Given the description of an element on the screen output the (x, y) to click on. 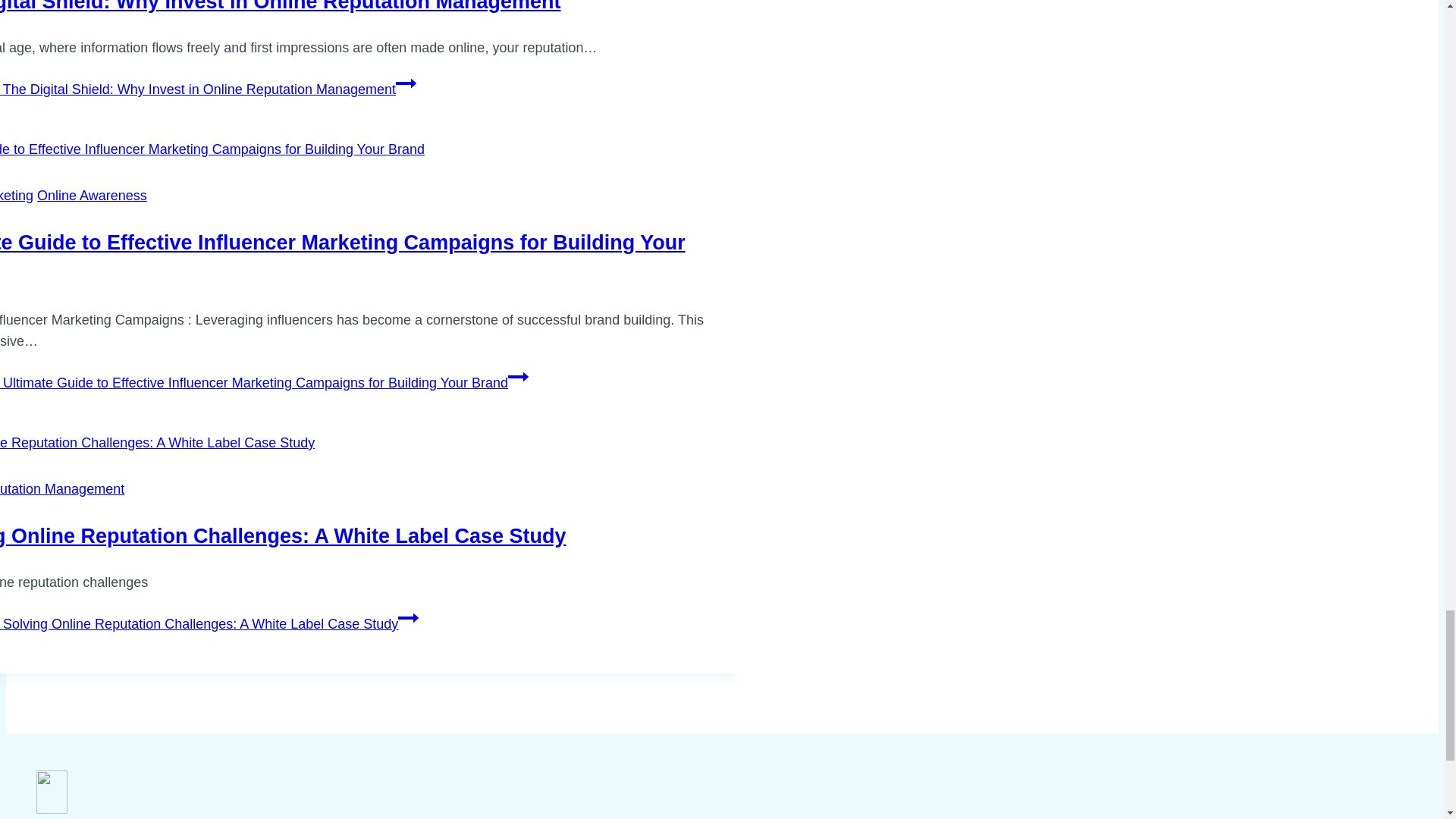
Continue (406, 83)
Digital Marketing (16, 195)
Online Awareness (92, 195)
Continue (518, 376)
Online Reputation Management (61, 488)
Continue (408, 617)
